Given the description of an element on the screen output the (x, y) to click on. 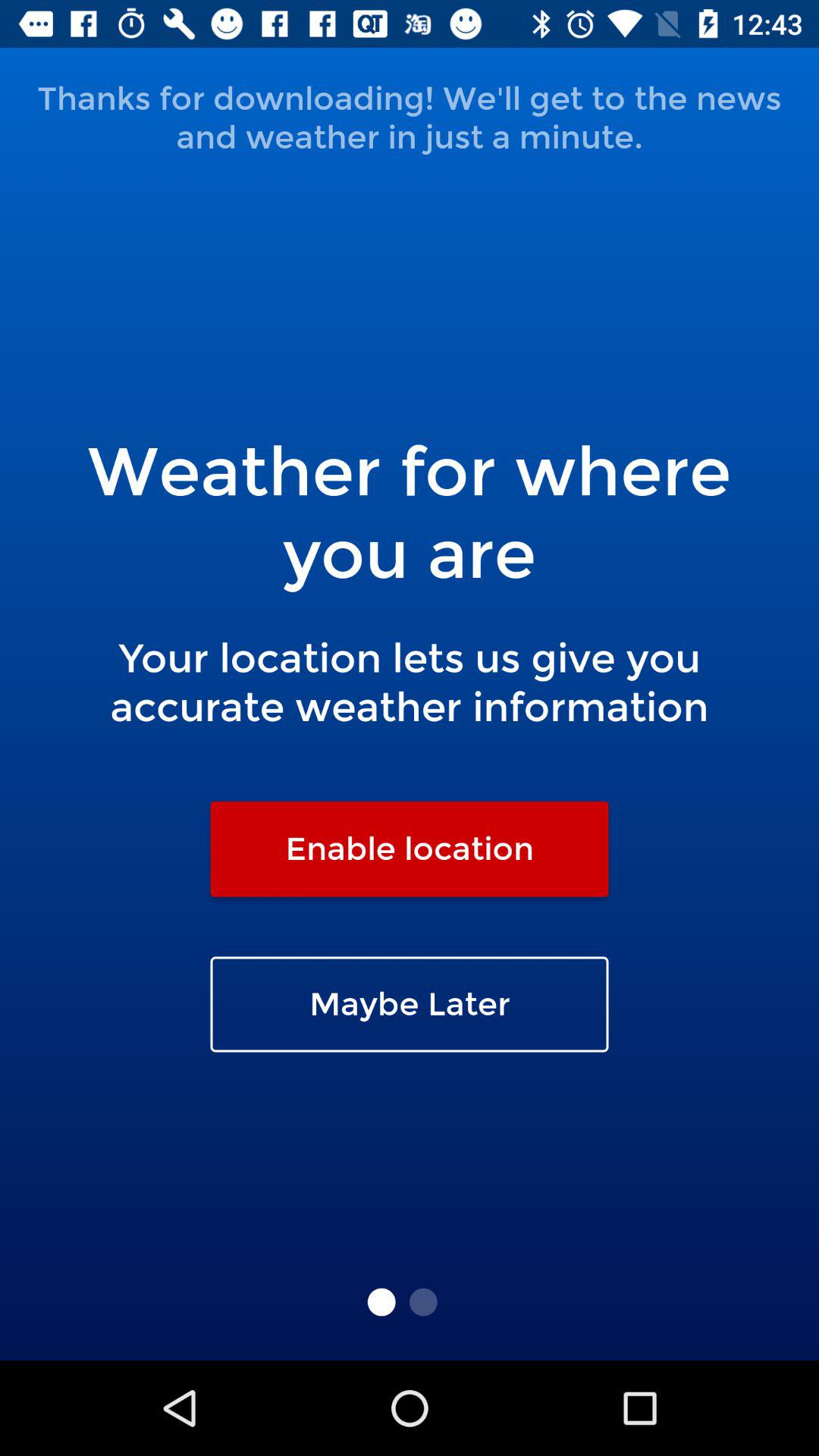
turn off enable location icon (409, 848)
